Given the description of an element on the screen output the (x, y) to click on. 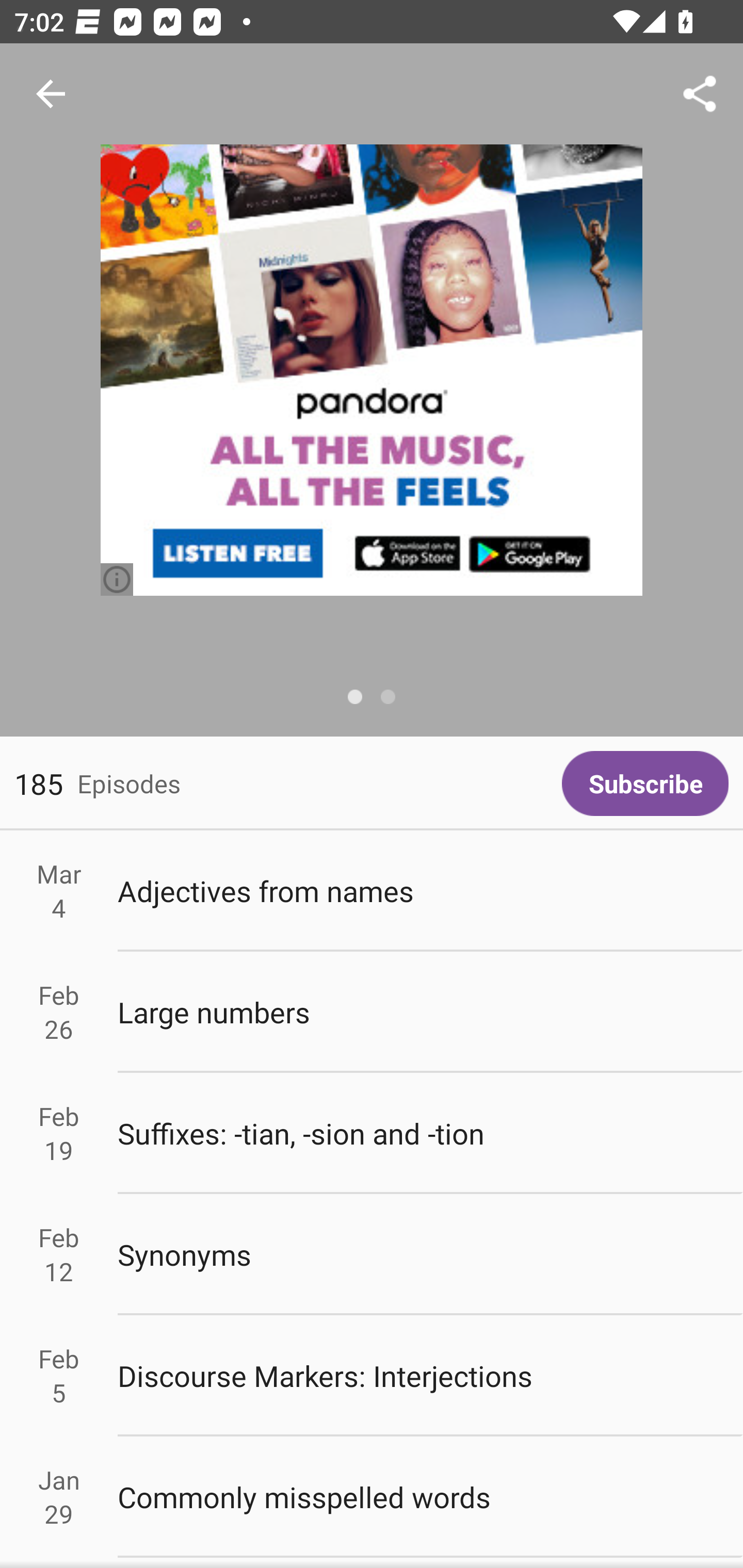
Navigate up (50, 93)
Share... (699, 93)
Subscribe (644, 783)
Mar 4 Adjectives from names (371, 891)
Feb 26 Large numbers (371, 1011)
Feb 19 Suffixes: -tian, -sion and -tion (371, 1133)
Feb 12 Synonyms (371, 1254)
Feb 5 Discourse Markers: Interjections (371, 1375)
Jan 29 Commonly misspelled words (371, 1496)
